Given the description of an element on the screen output the (x, y) to click on. 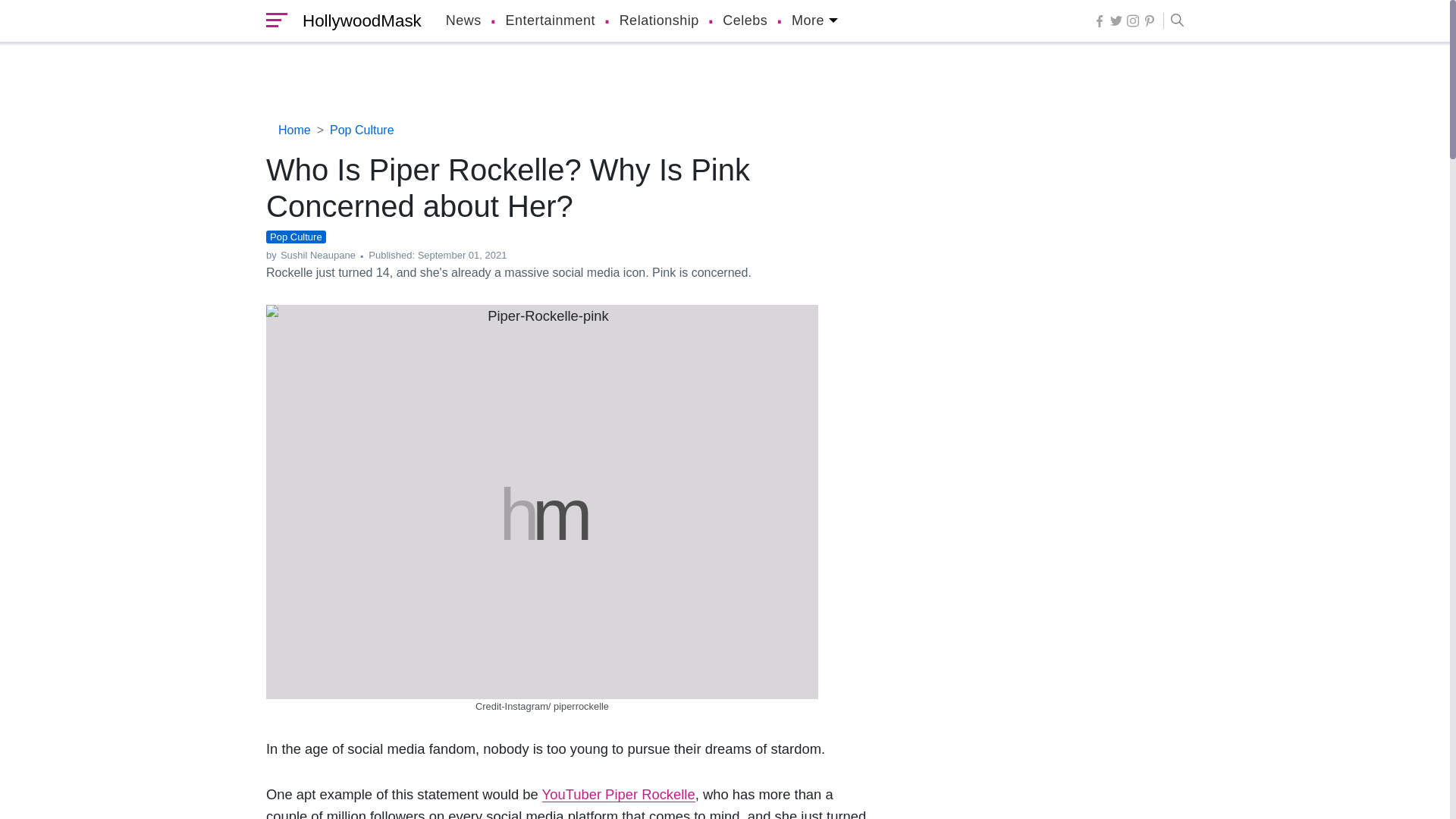
Follow Us On twitter (1115, 20)
Relationship (659, 20)
Celebs (744, 20)
Relationship (659, 20)
Follow Us On instagram (1132, 20)
Entertainment (550, 20)
Celebs (744, 20)
Entertainment (550, 20)
more (815, 20)
Search (1173, 20)
